Given the description of an element on the screen output the (x, y) to click on. 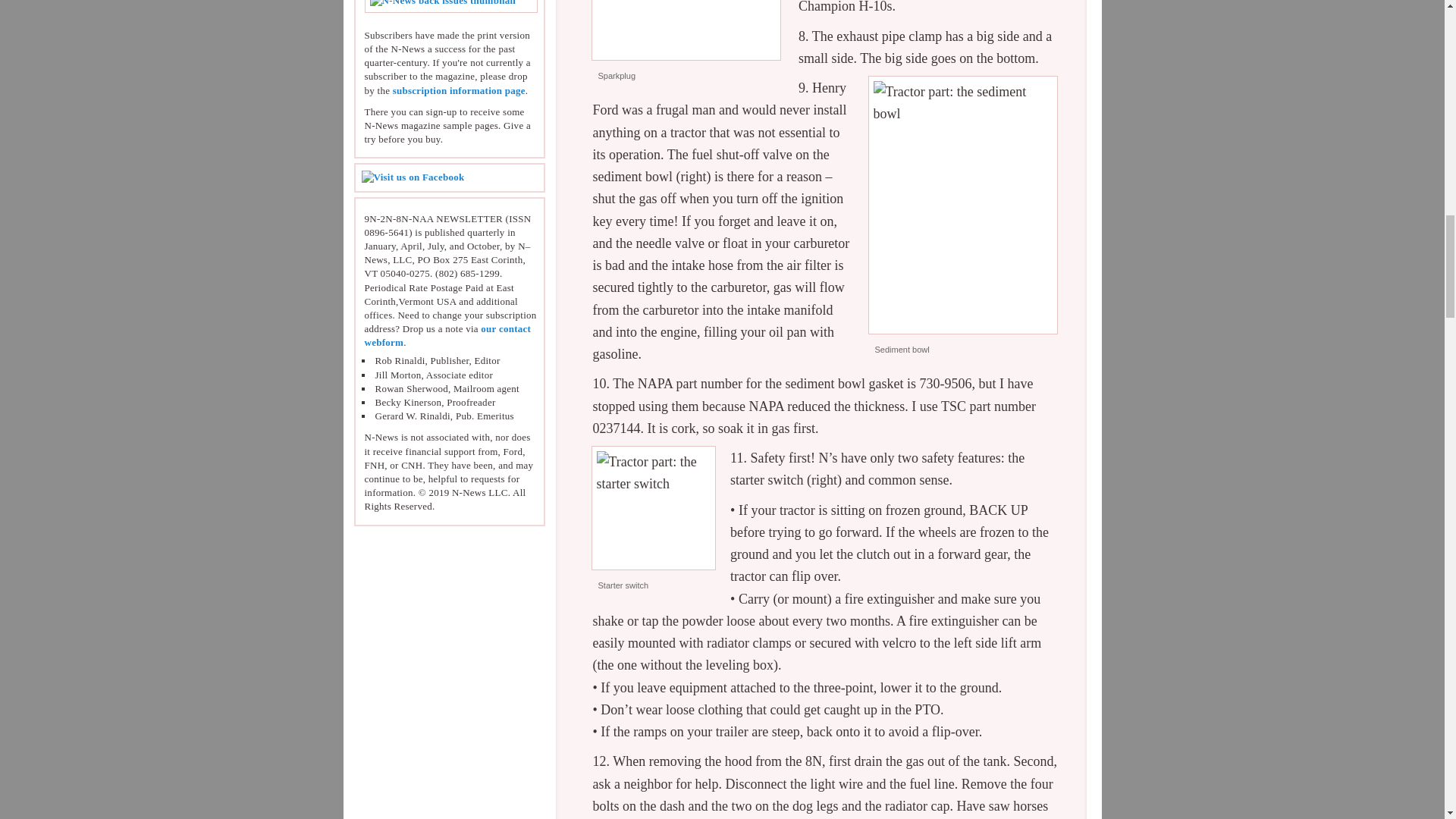
our contact webform (447, 335)
subscription information page (459, 90)
